Given the description of an element on the screen output the (x, y) to click on. 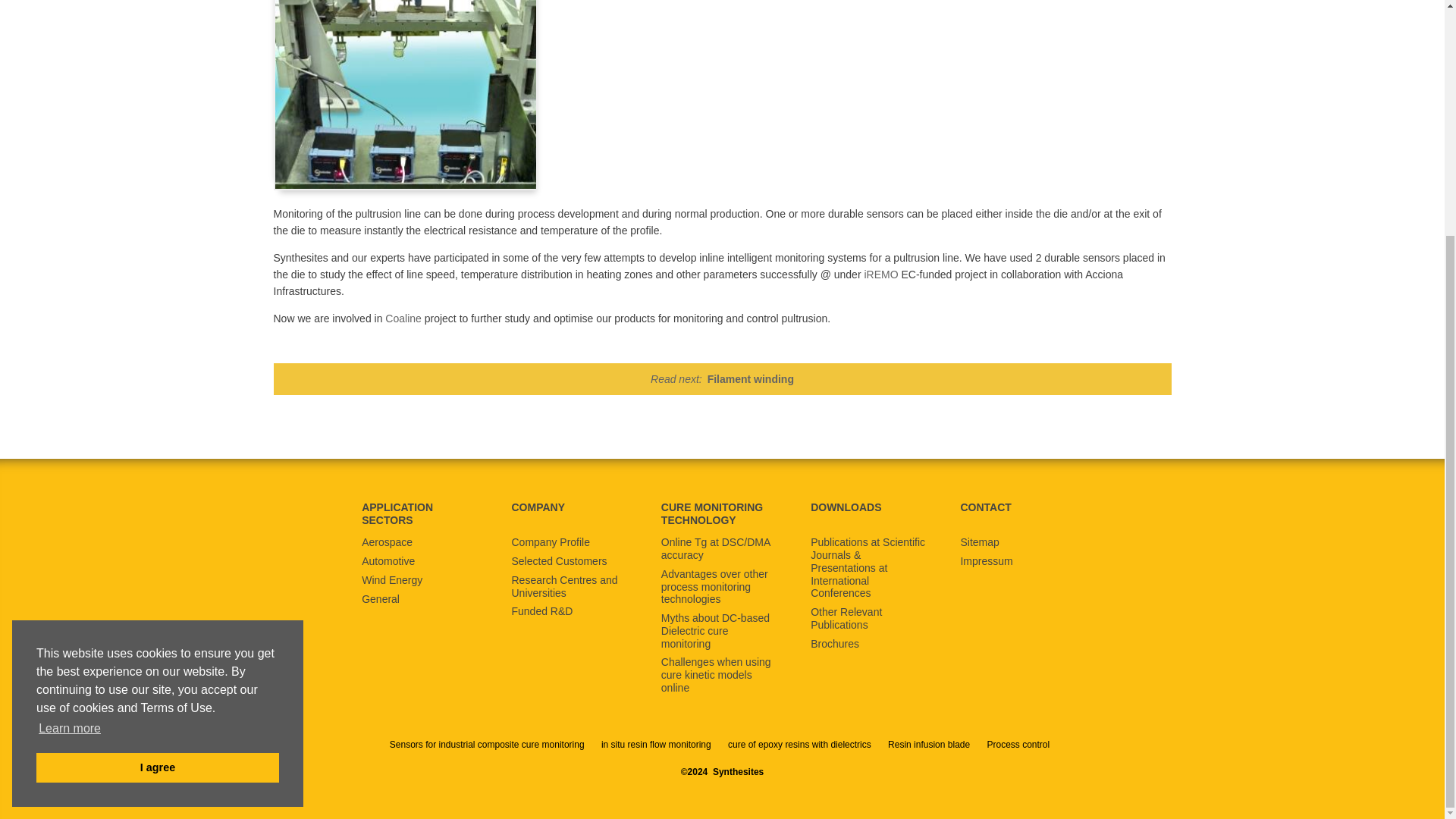
I agree (157, 445)
Learn more (69, 406)
